Given the description of an element on the screen output the (x, y) to click on. 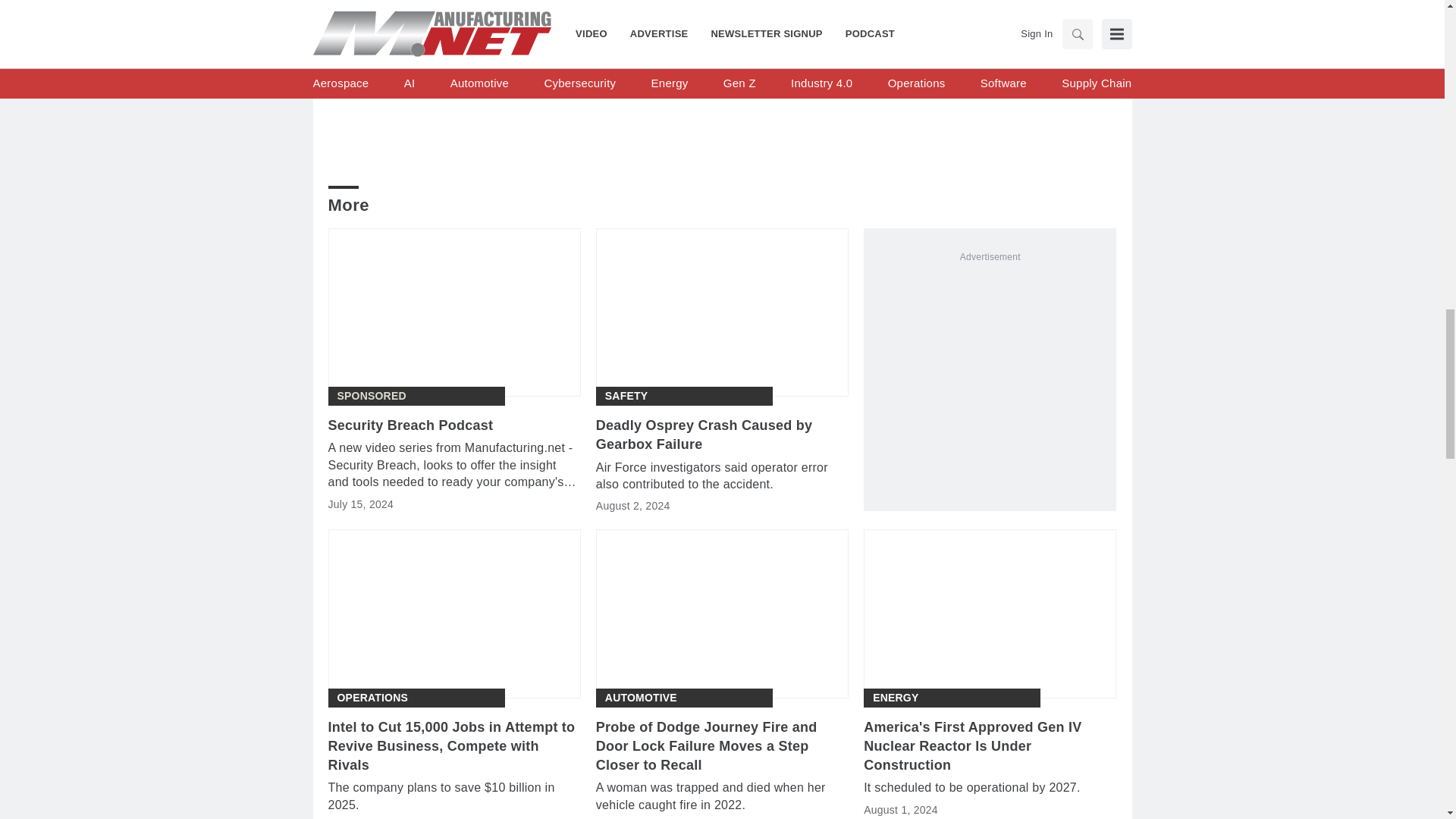
Operations (371, 697)
Automotive (641, 697)
Safety (626, 396)
Sponsored (371, 396)
